Given the description of an element on the screen output the (x, y) to click on. 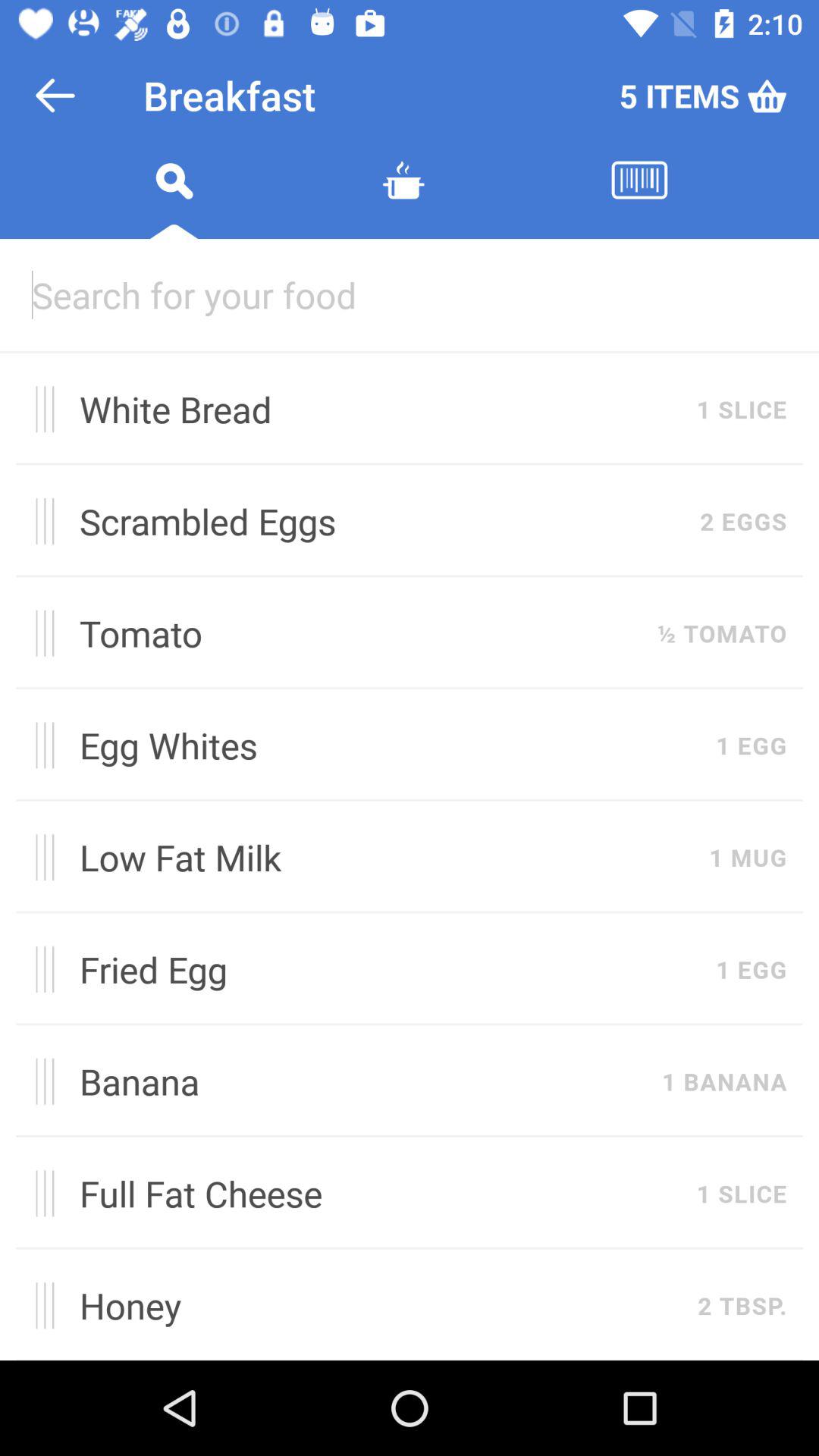
search for your food (409, 294)
